Given the description of an element on the screen output the (x, y) to click on. 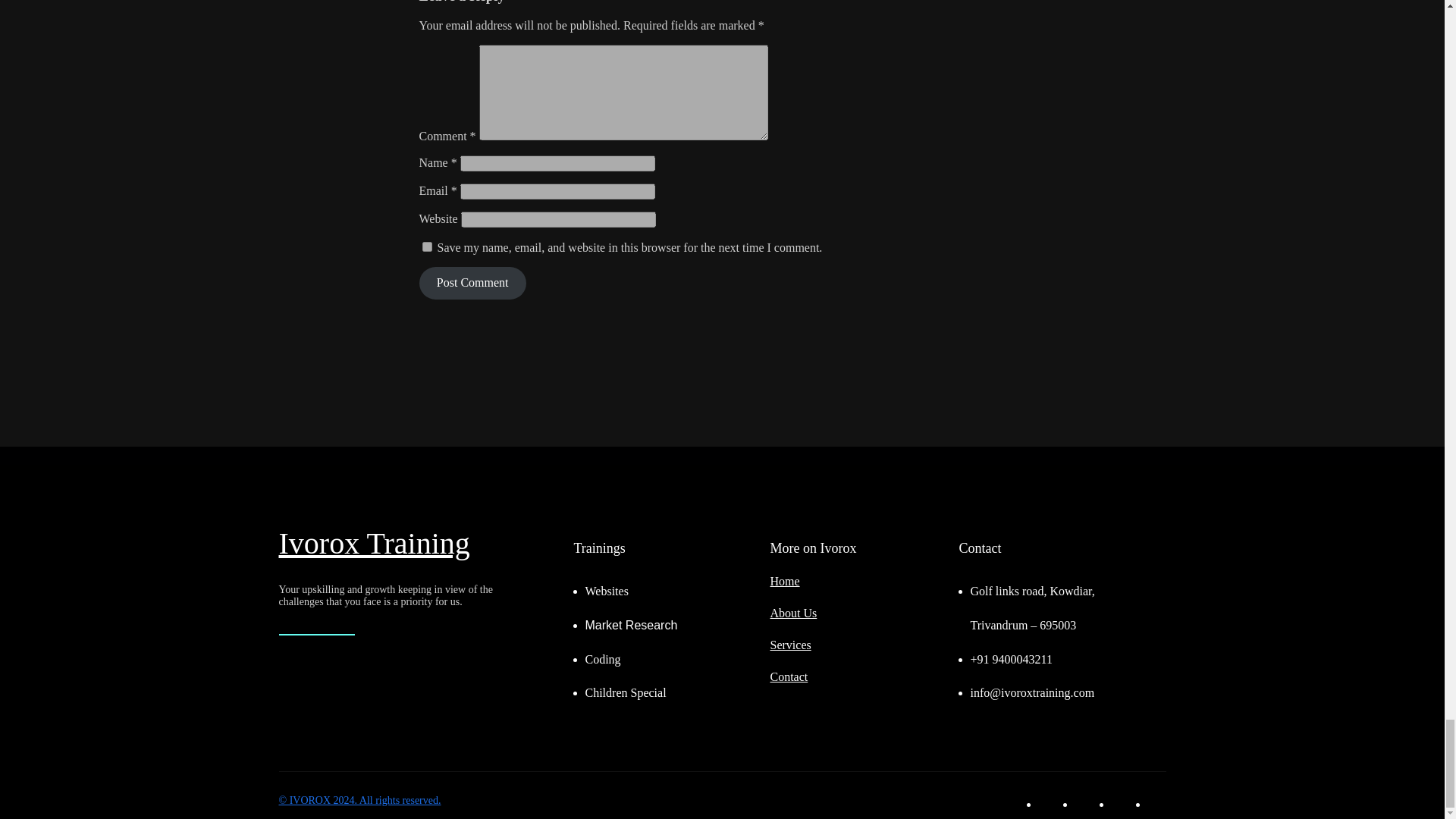
Services (790, 644)
Post Comment (472, 282)
YouTube (1157, 803)
Post Comment (472, 282)
Facebook (1048, 803)
About Us (793, 612)
Instagram (1120, 803)
Contact (789, 676)
Home (784, 581)
Ivorox Training (374, 543)
yes (426, 246)
Twitter (1084, 803)
